Given the description of an element on the screen output the (x, y) to click on. 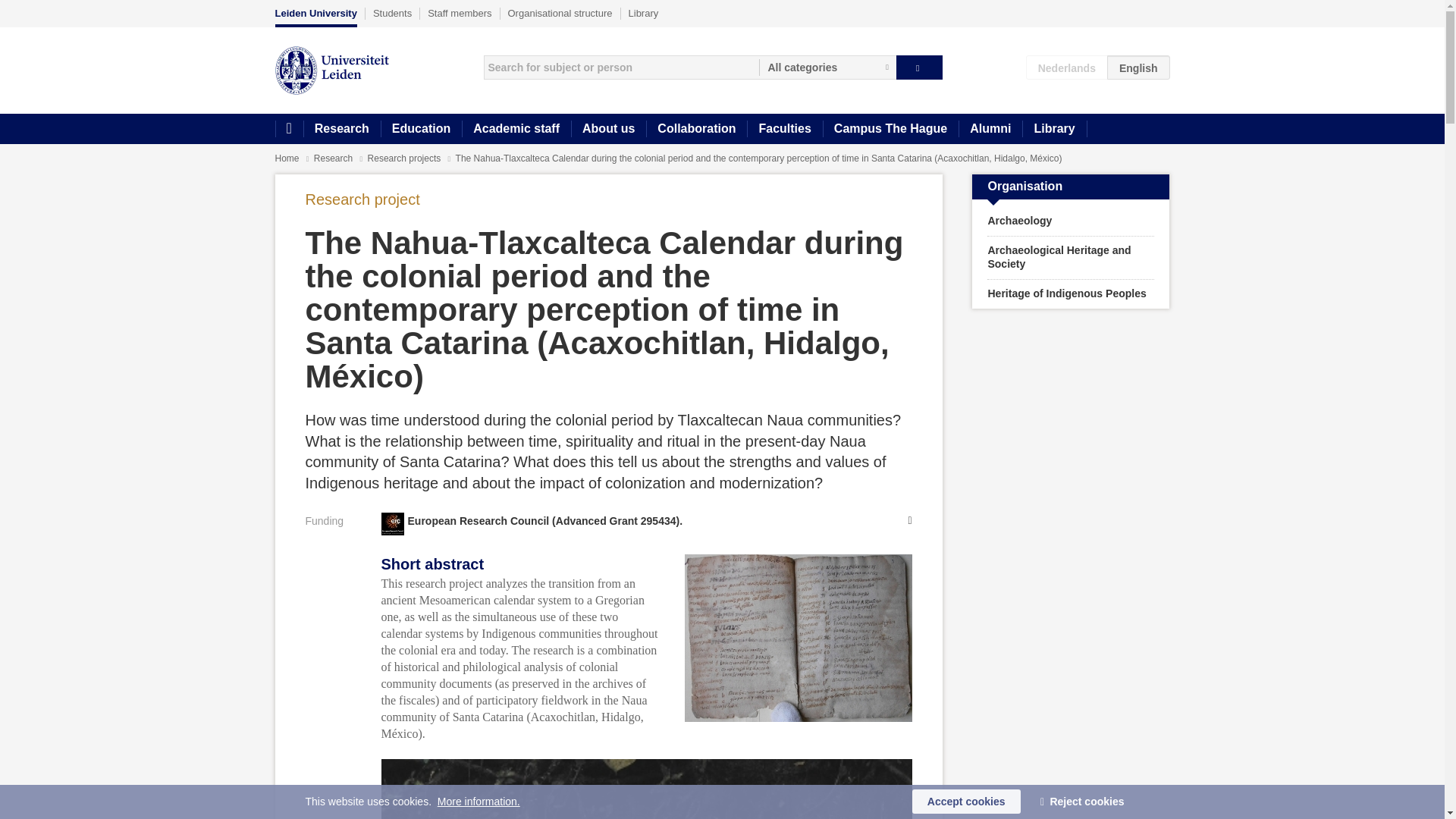
Collaboration (696, 128)
Education (420, 128)
Campus The Hague (890, 128)
Home (286, 158)
Search (919, 67)
Faculties (784, 128)
Staff members (460, 13)
All categories (827, 67)
Academic staff (515, 128)
Research (341, 128)
Research projects (406, 158)
Research (334, 158)
Library (1054, 128)
Alumni (990, 128)
About us (608, 128)
